Given the description of an element on the screen output the (x, y) to click on. 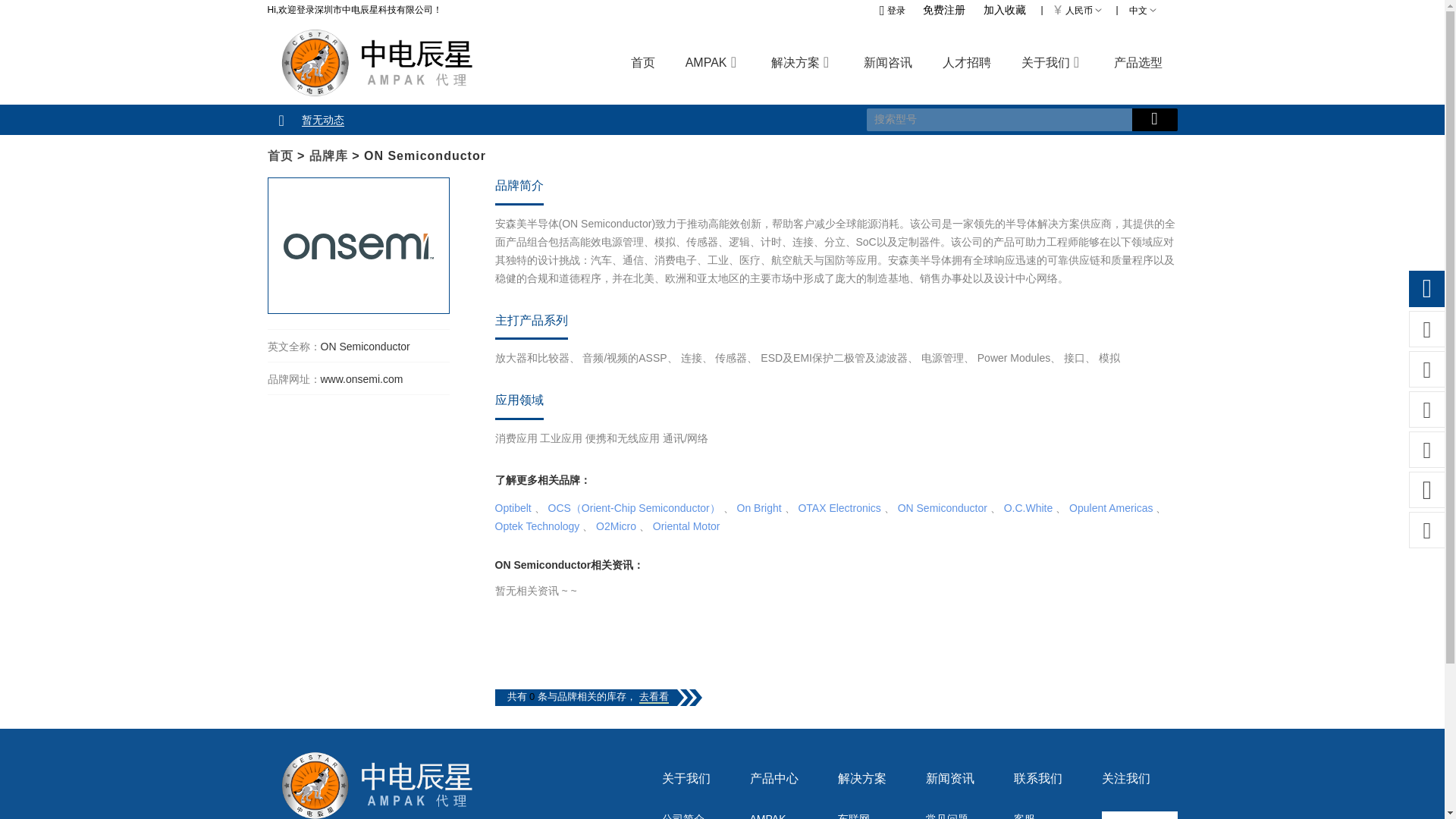
Oriental Motor (686, 526)
www.onsemi.com (361, 378)
AMPAK (787, 815)
O2Micro (615, 526)
Optibelt (513, 508)
ON Semiconductor (942, 508)
OTAX Electronics (838, 508)
On Bright (758, 508)
Opulent Americas (1110, 508)
Optek Technology (537, 526)
